Given the description of an element on the screen output the (x, y) to click on. 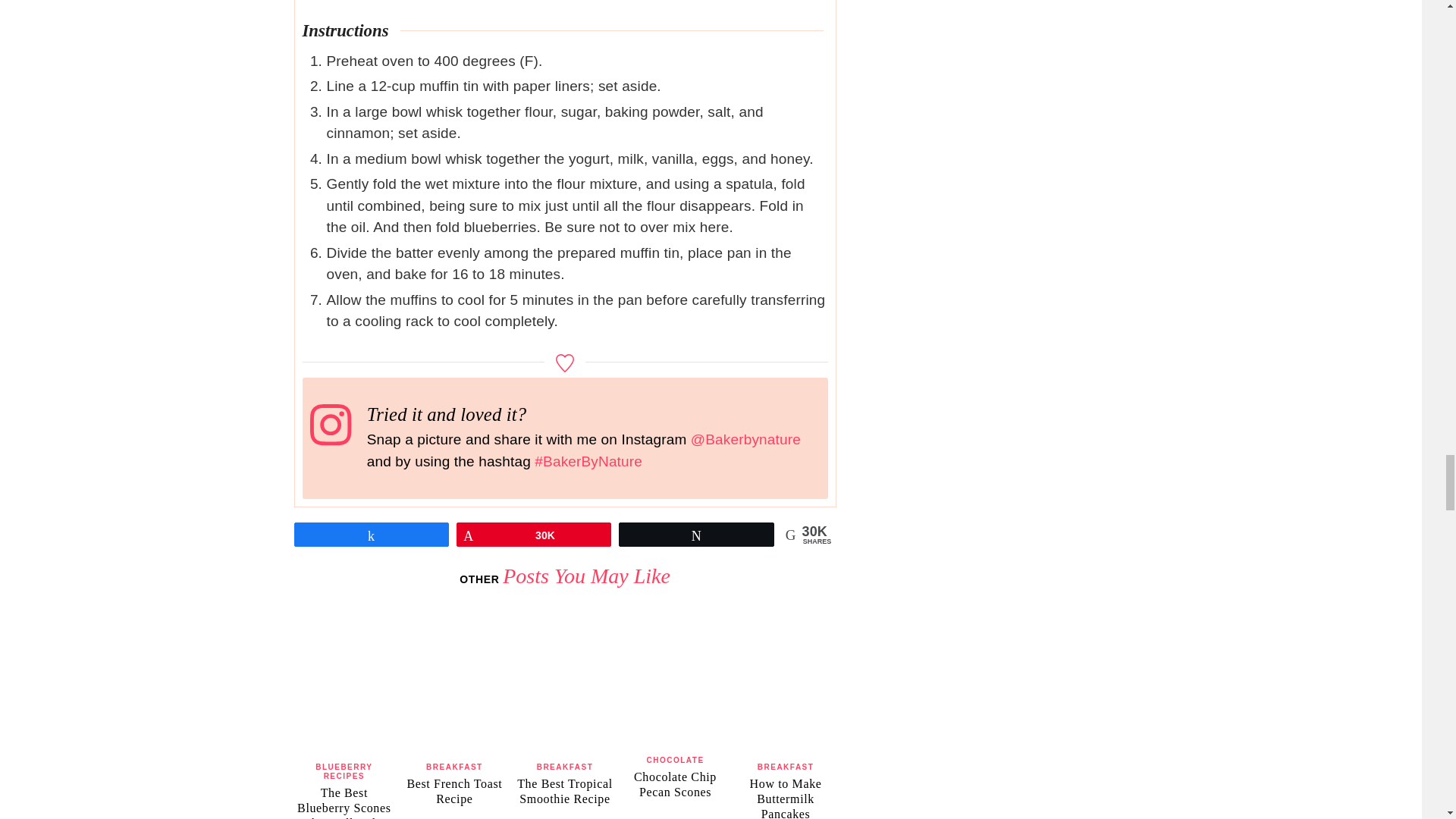
Permanent Link to How to Make Buttermilk Pancakes (785, 613)
Permanent Link to Chocolate Chip Pecan Scones (674, 784)
Permanent Link to The Best Tropical Smoothie Recipe (564, 791)
Permanent Link to The Best Tropical Smoothie Recipe (565, 613)
Permanent Link to Best French Toast Recipe (454, 791)
Permanent Link to Chocolate Chip Pecan Scones (674, 613)
Permanent Link to How to Make Buttermilk Pancakes (785, 798)
Permanent Link to Best French Toast Recipe (454, 613)
